Given the description of an element on the screen output the (x, y) to click on. 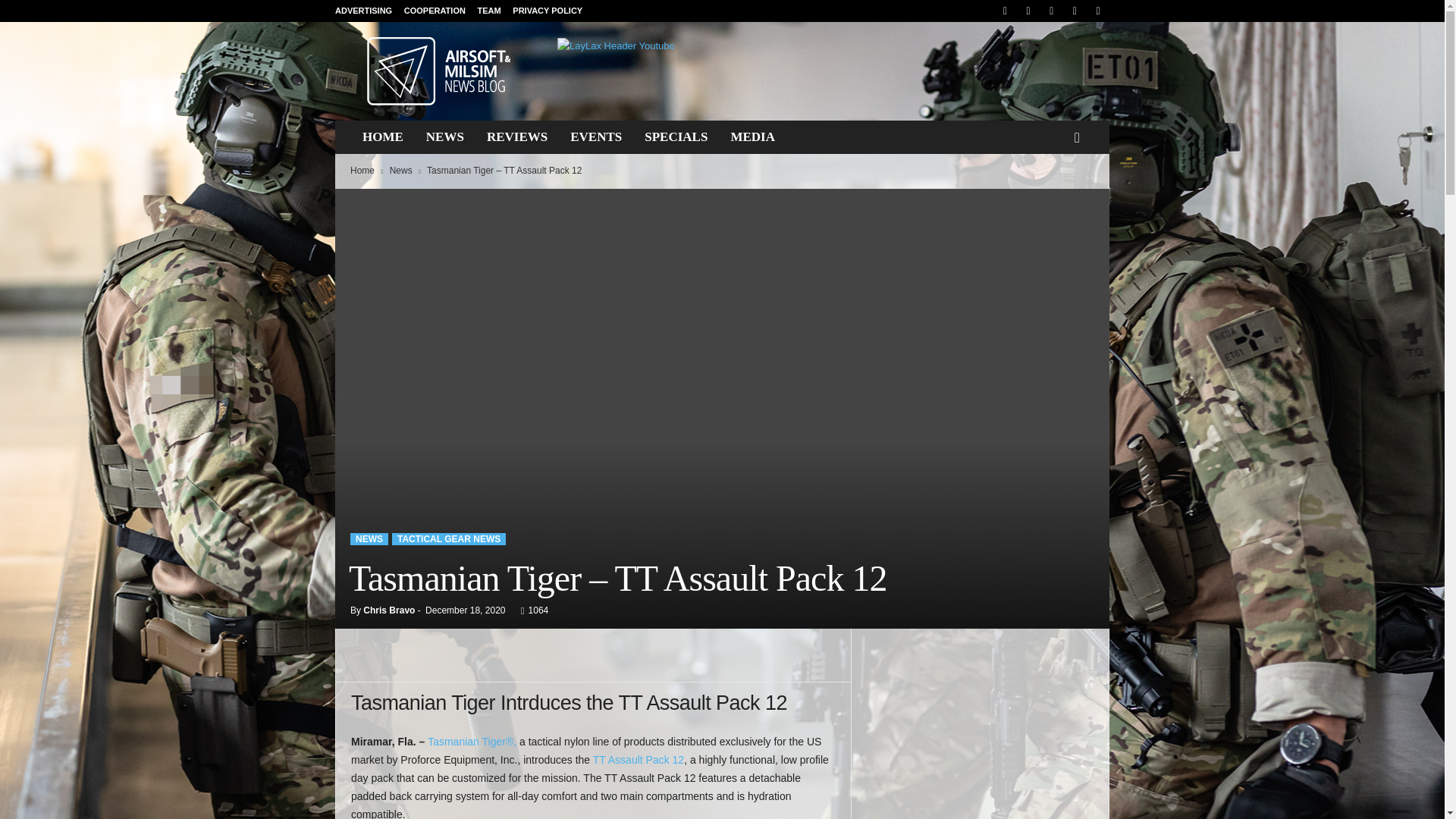
PRIVACY POLICY (547, 10)
TEAM (488, 10)
ADVERTISING (362, 10)
View all posts in News (401, 170)
COOPERATION (434, 10)
